Given the description of an element on the screen output the (x, y) to click on. 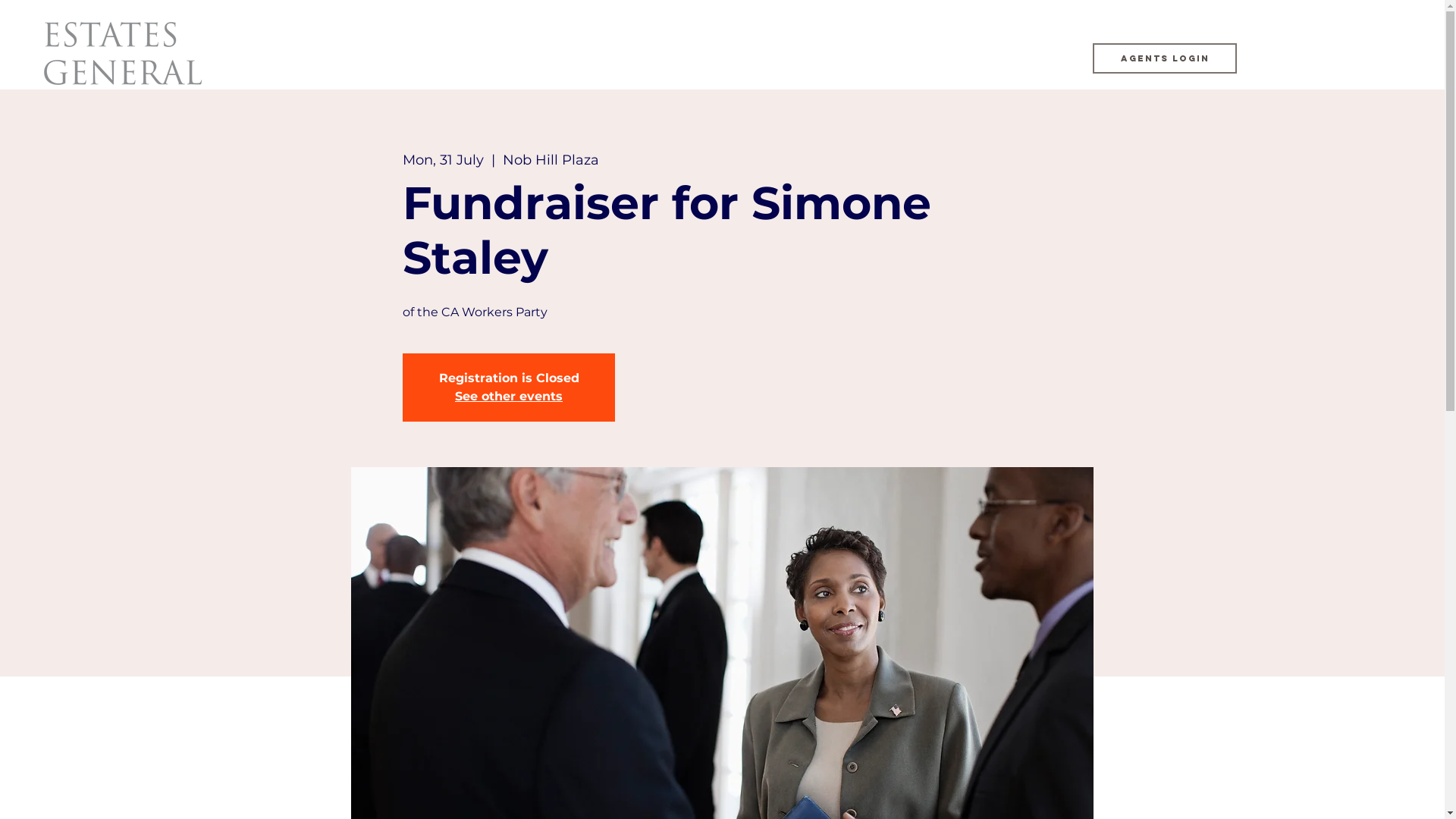
See other events Element type: text (508, 396)
